Given the description of an element on the screen output the (x, y) to click on. 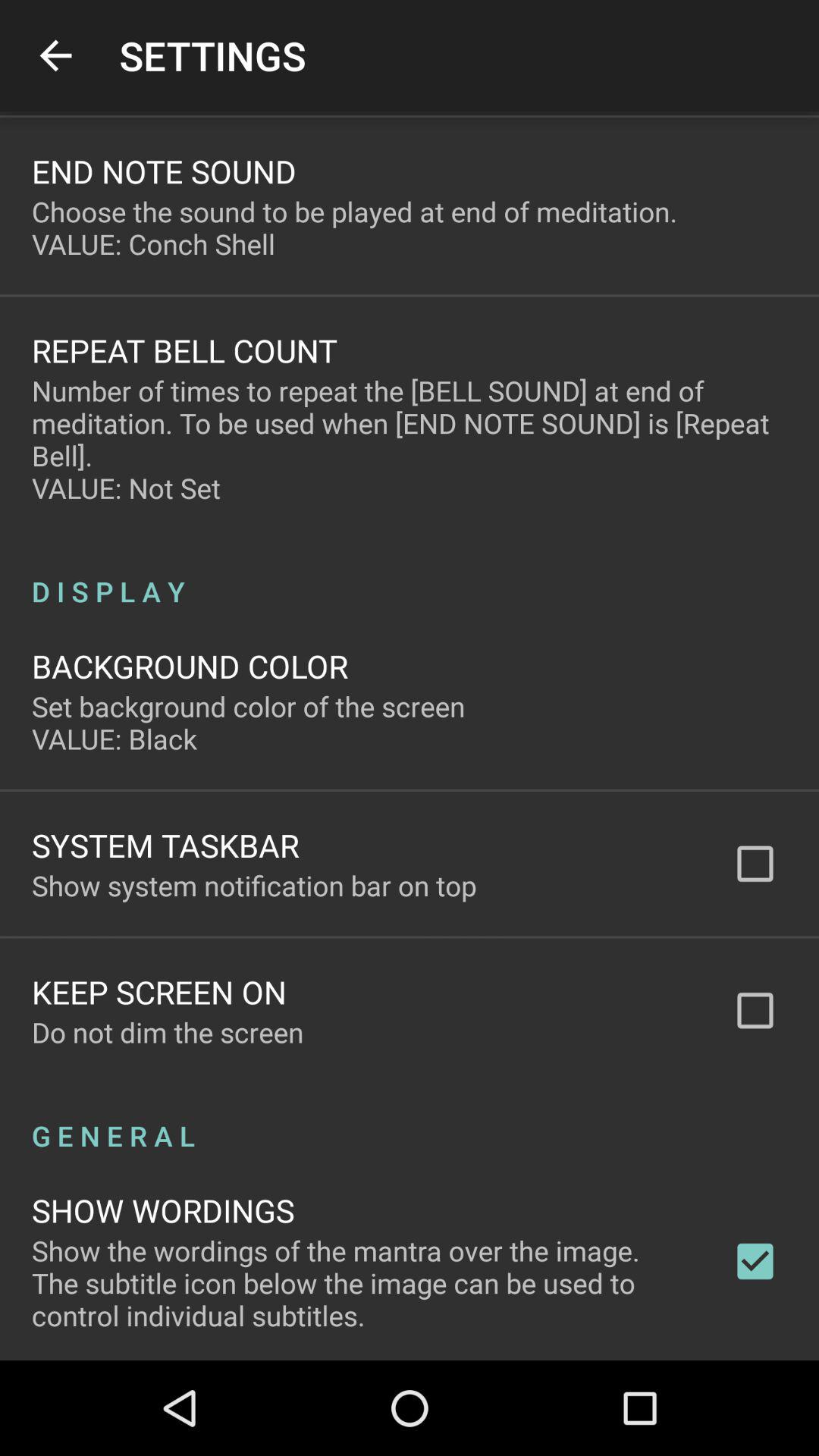
launch icon below show system notification (158, 991)
